Given the description of an element on the screen output the (x, y) to click on. 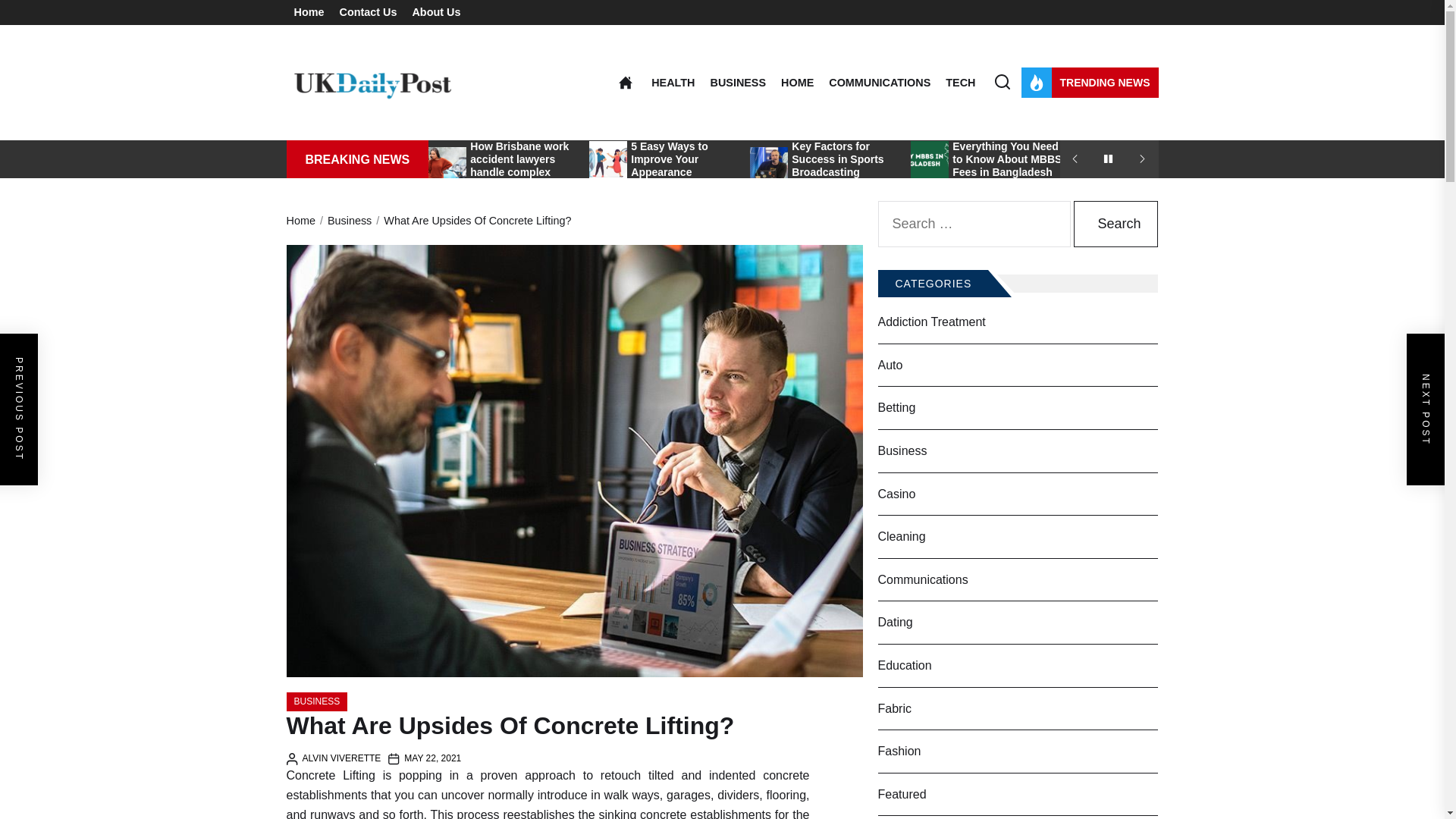
Home (624, 82)
HEALTH (672, 82)
COMMUNICATIONS (879, 82)
BUSINESS (737, 82)
Search (1115, 223)
Search (1115, 223)
Home (309, 12)
How Brisbane work accident lawyers handle complex claims (519, 165)
TRENDING NEWS (1088, 82)
HOME (796, 82)
